Given the description of an element on the screen output the (x, y) to click on. 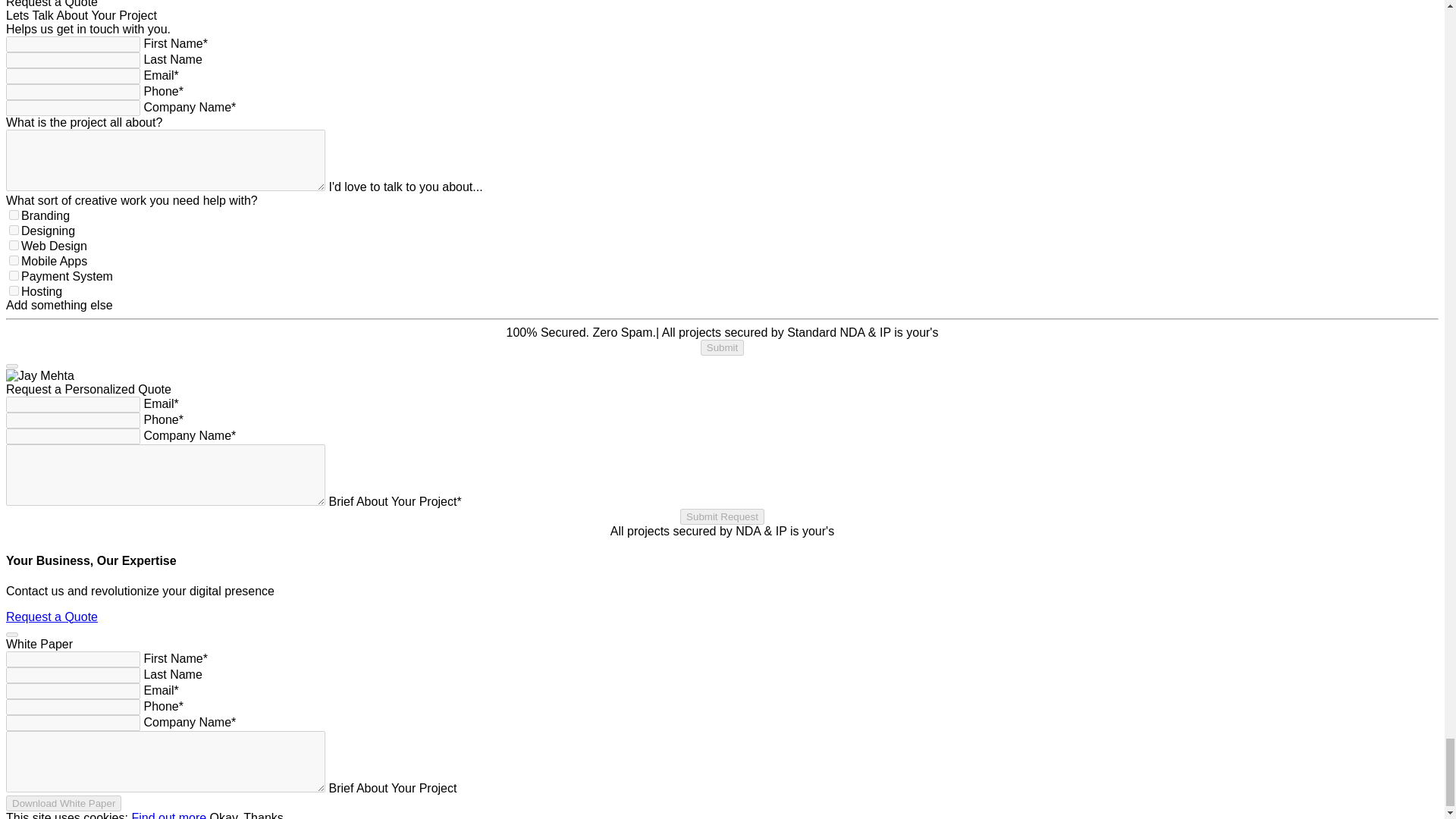
Mobile Apps (13, 260)
Payment System (13, 275)
Web Design (13, 245)
Designing (13, 230)
Hosting (13, 290)
Branding (13, 214)
